Given the description of an element on the screen output the (x, y) to click on. 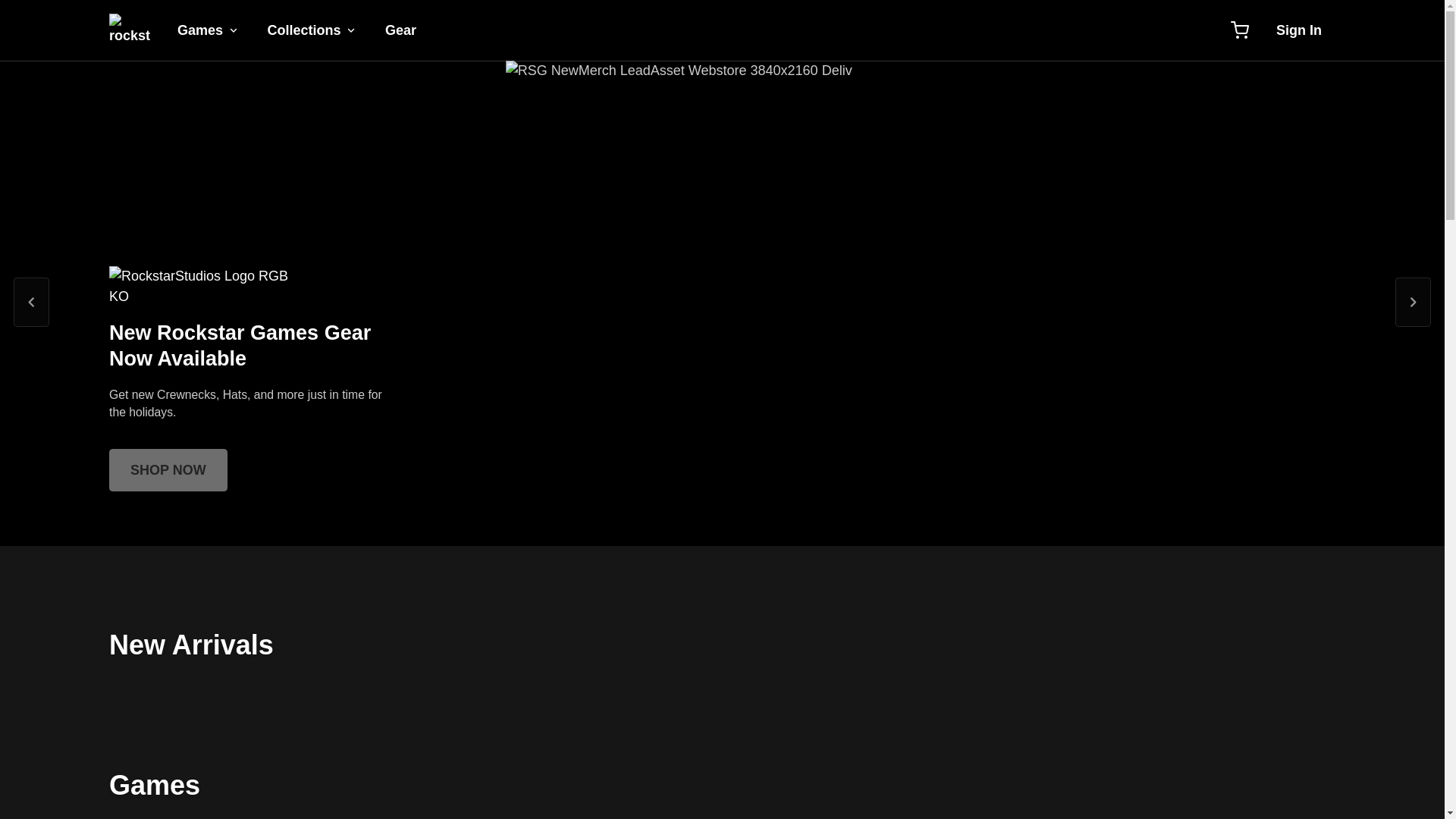
Sign In (1298, 29)
SHOP NOW (168, 469)
Collections (312, 30)
Games (208, 30)
Sign In (1298, 29)
Gear (400, 30)
